Given the description of an element on the screen output the (x, y) to click on. 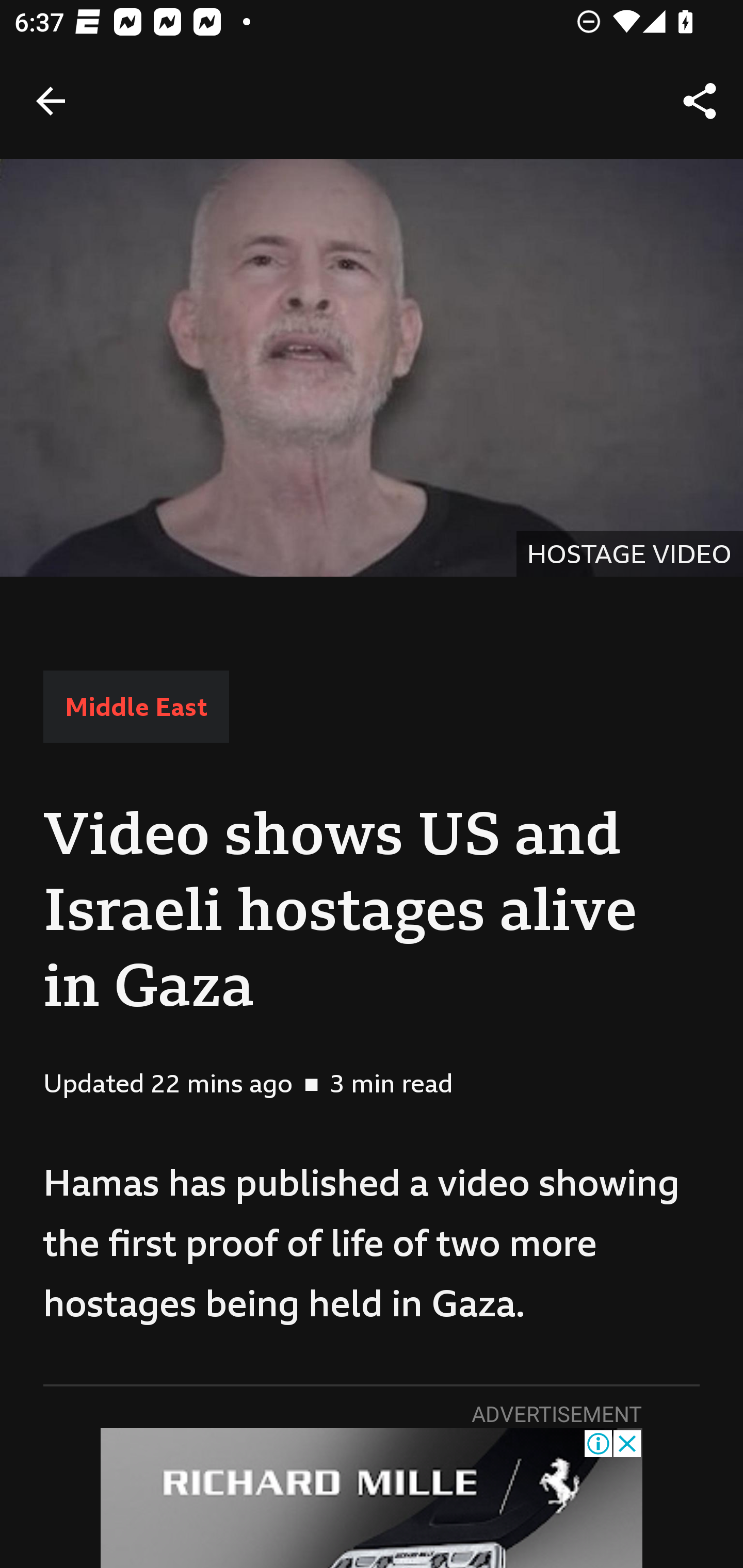
Back (50, 101)
Share (699, 101)
Keith Siegel is seen in new hostage video (371, 367)
Middle East (135, 706)
